Given the description of an element on the screen output the (x, y) to click on. 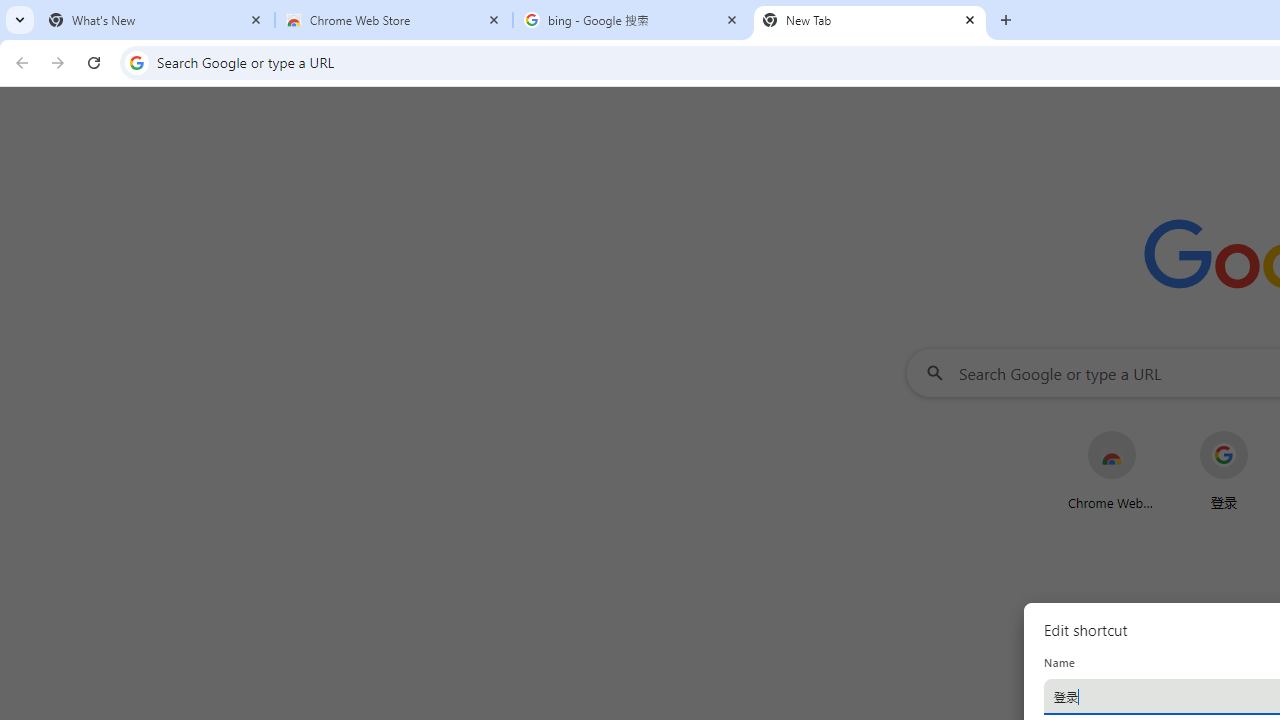
What's New (156, 20)
New Tab (870, 20)
Chrome Web Store (394, 20)
